Given the description of an element on the screen output the (x, y) to click on. 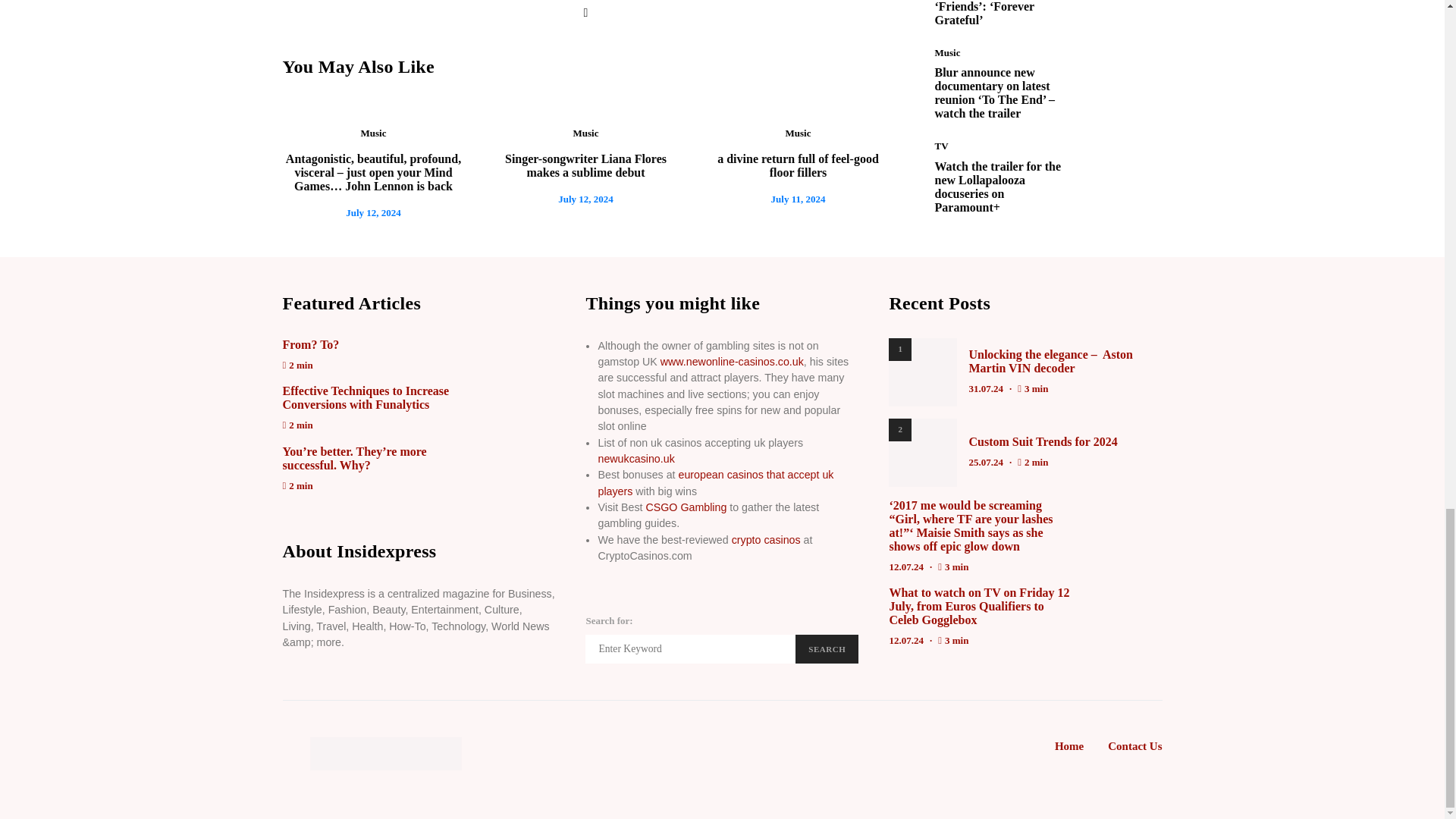
Custom Suit Trends for 2024 2 (922, 451)
Non GamStop Casinos (732, 361)
